Given the description of an element on the screen output the (x, y) to click on. 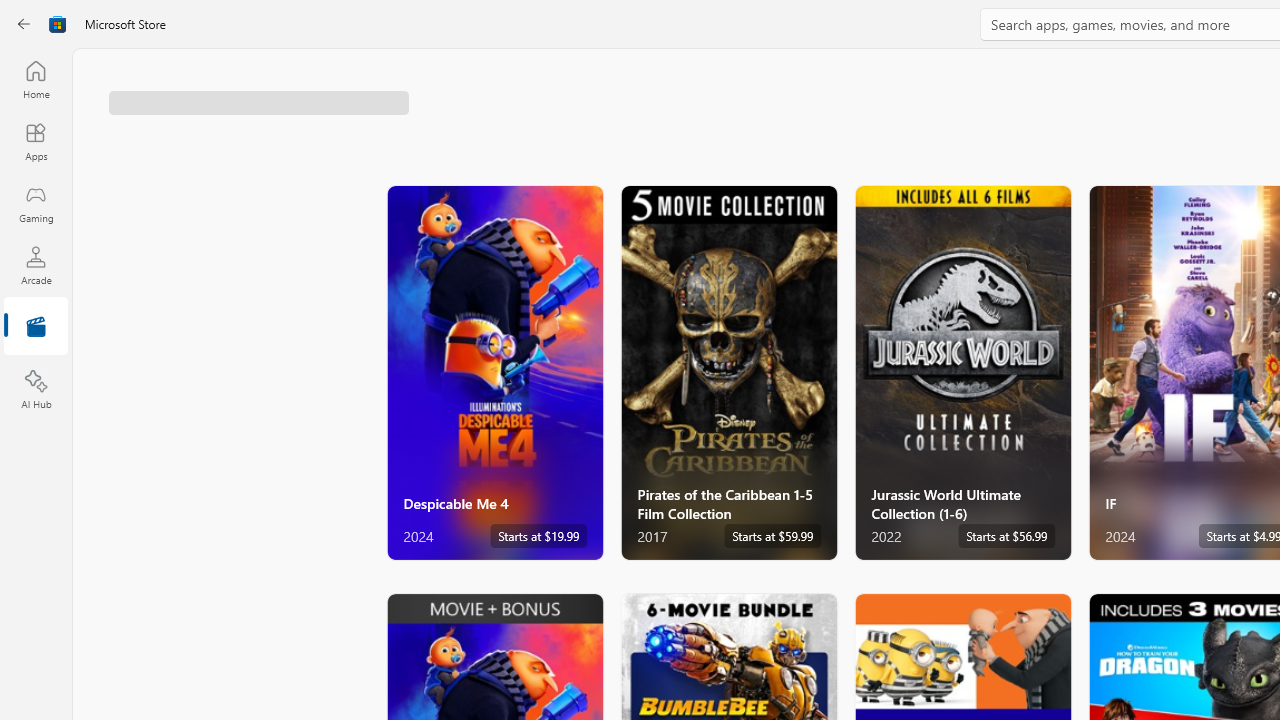
Class: Image (58, 24)
AI Hub (35, 390)
Back (24, 24)
Jurassic World Ultimate Collection (1-6). Starts at $56.99   (962, 372)
Entertainment (35, 327)
Apps (35, 141)
Gaming (35, 203)
Arcade (35, 265)
Home (35, 79)
